Given the description of an element on the screen output the (x, y) to click on. 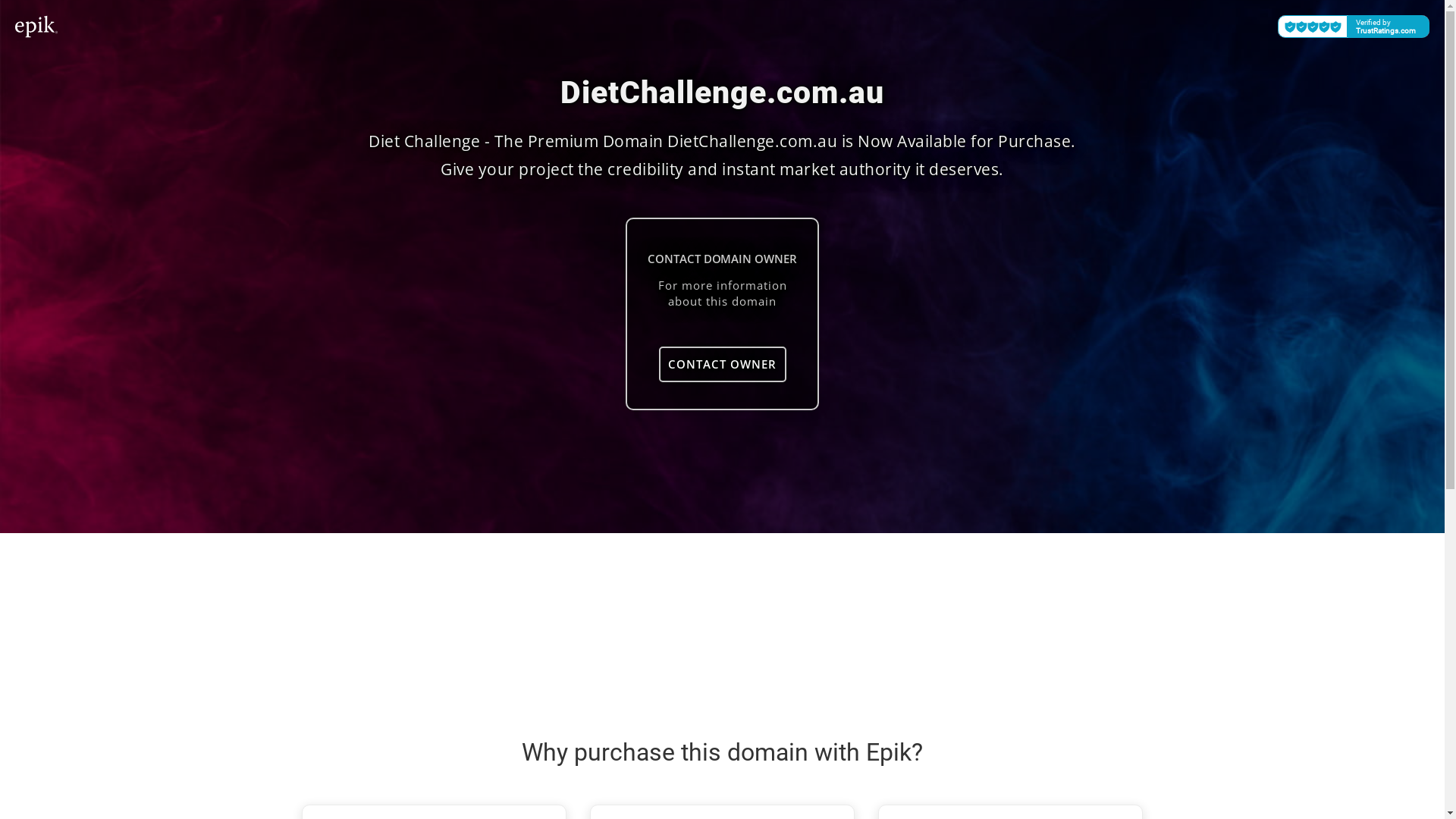
Verified by TrustRatings.com Element type: hover (1353, 26)
CONTACT OWNER Element type: text (721, 364)
